Given the description of an element on the screen output the (x, y) to click on. 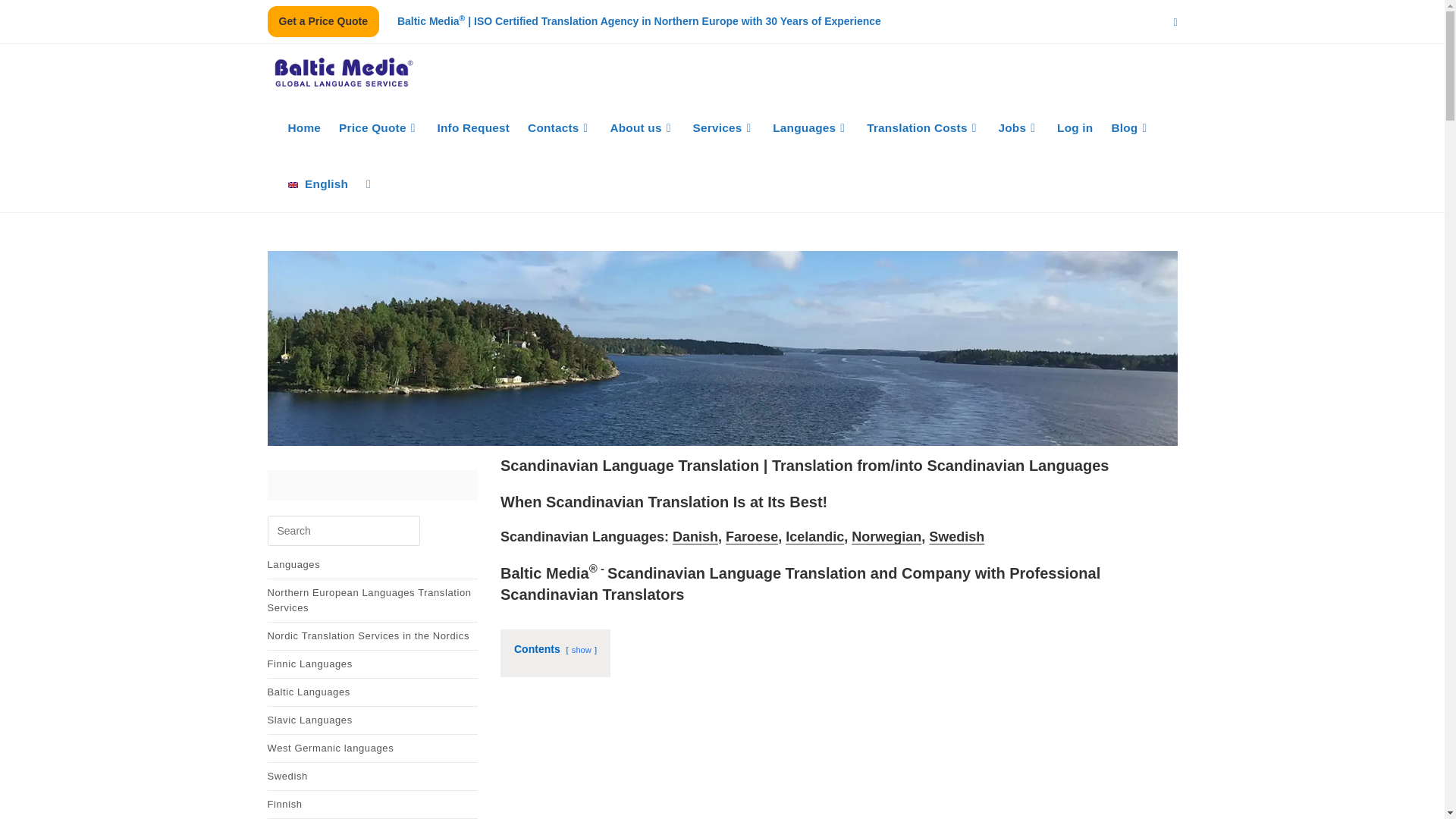
YouTube video player (838, 760)
Get a Price Quote (322, 20)
Home (304, 127)
About us (640, 127)
English (318, 184)
Info Request (473, 127)
Services (722, 127)
Contacts (558, 127)
Price Quote (379, 127)
